Given the description of an element on the screen output the (x, y) to click on. 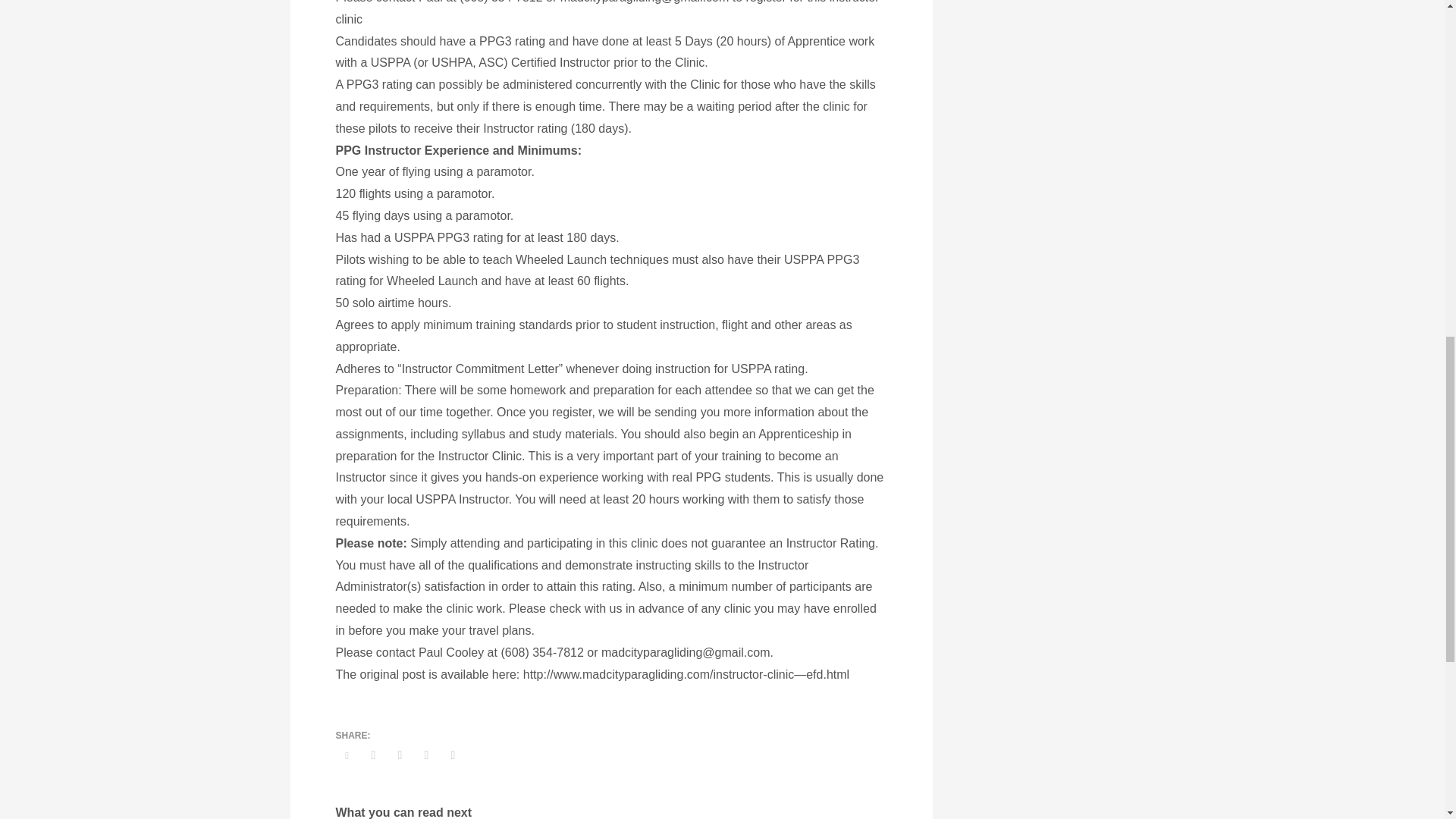
SHARE ON MAIL (452, 754)
SHARE ON FACEBOOK (373, 754)
SHARE ON TWITTER (346, 755)
SHARE ON GPLUS (399, 754)
SHARE ON PINTEREST (426, 754)
